Given the description of an element on the screen output the (x, y) to click on. 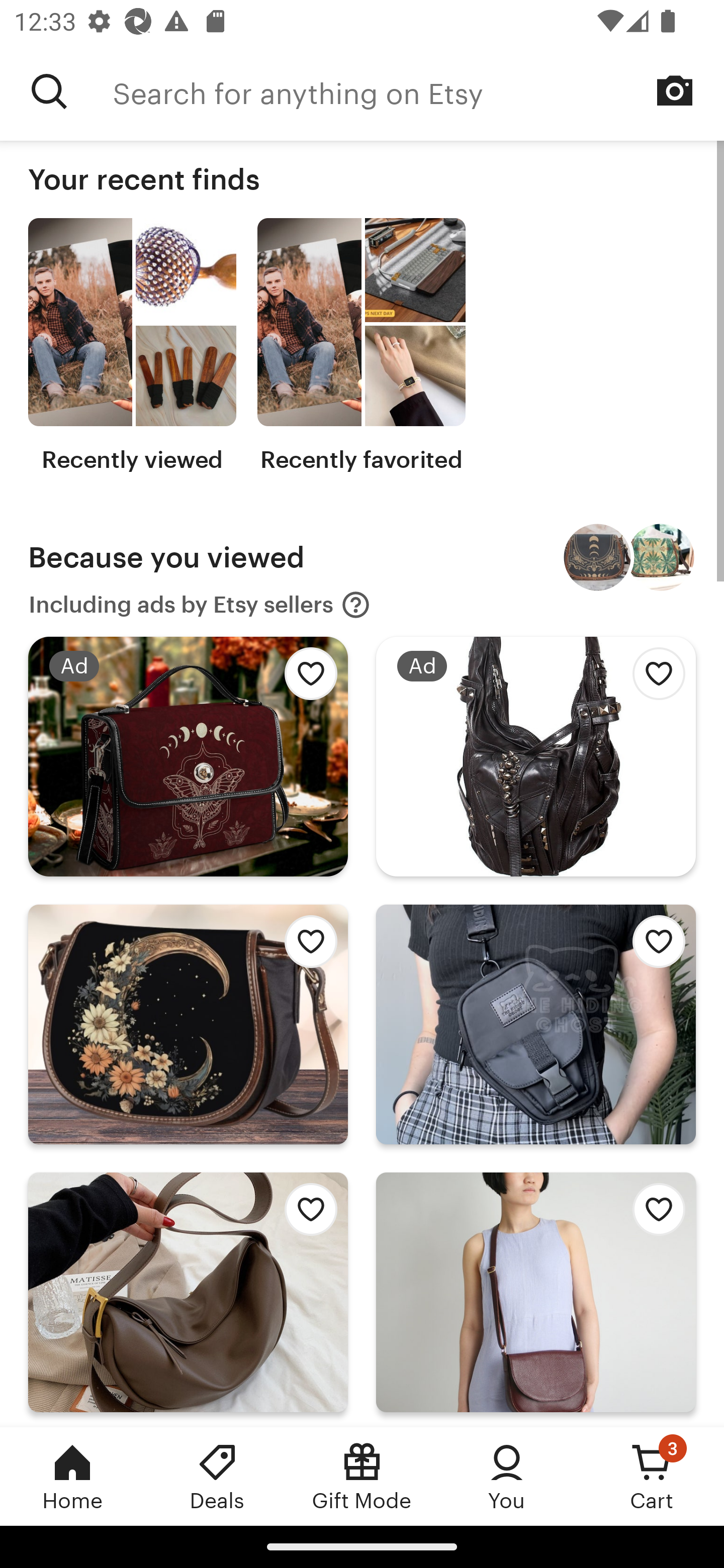
Search for anything on Etsy (49, 91)
Search by image (674, 90)
Search for anything on Etsy (418, 91)
Recently viewed (132, 345)
Recently favorited (361, 345)
Including ads by Etsy sellers (199, 604)
Deals (216, 1475)
Gift Mode (361, 1475)
You (506, 1475)
Cart, 3 new notifications Cart (651, 1475)
